Given the description of an element on the screen output the (x, y) to click on. 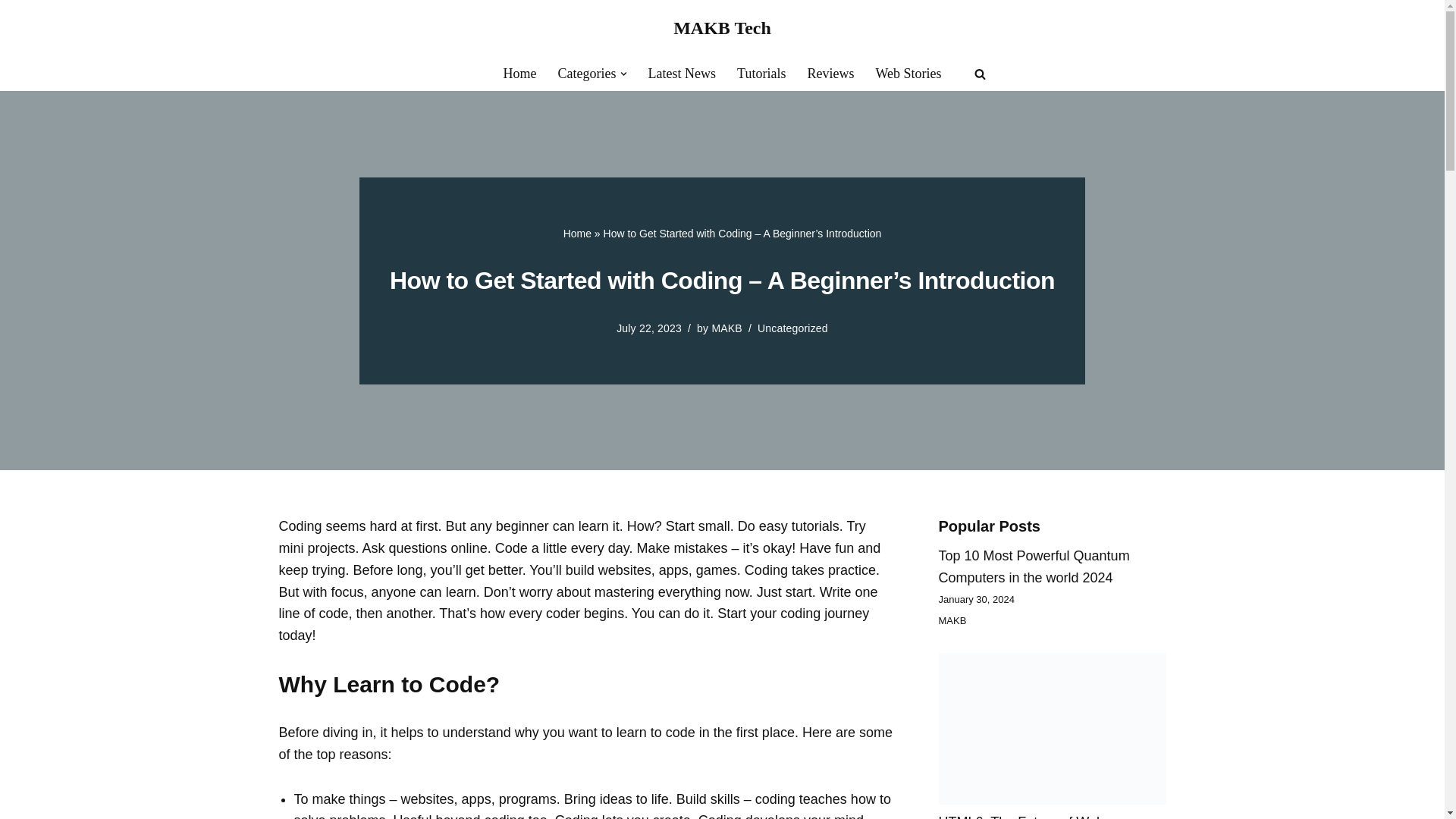
MAKB Tech (721, 27)
Home (520, 73)
Posts by MAKB (726, 328)
Skip to content (11, 31)
Categories (586, 73)
